Given the description of an element on the screen output the (x, y) to click on. 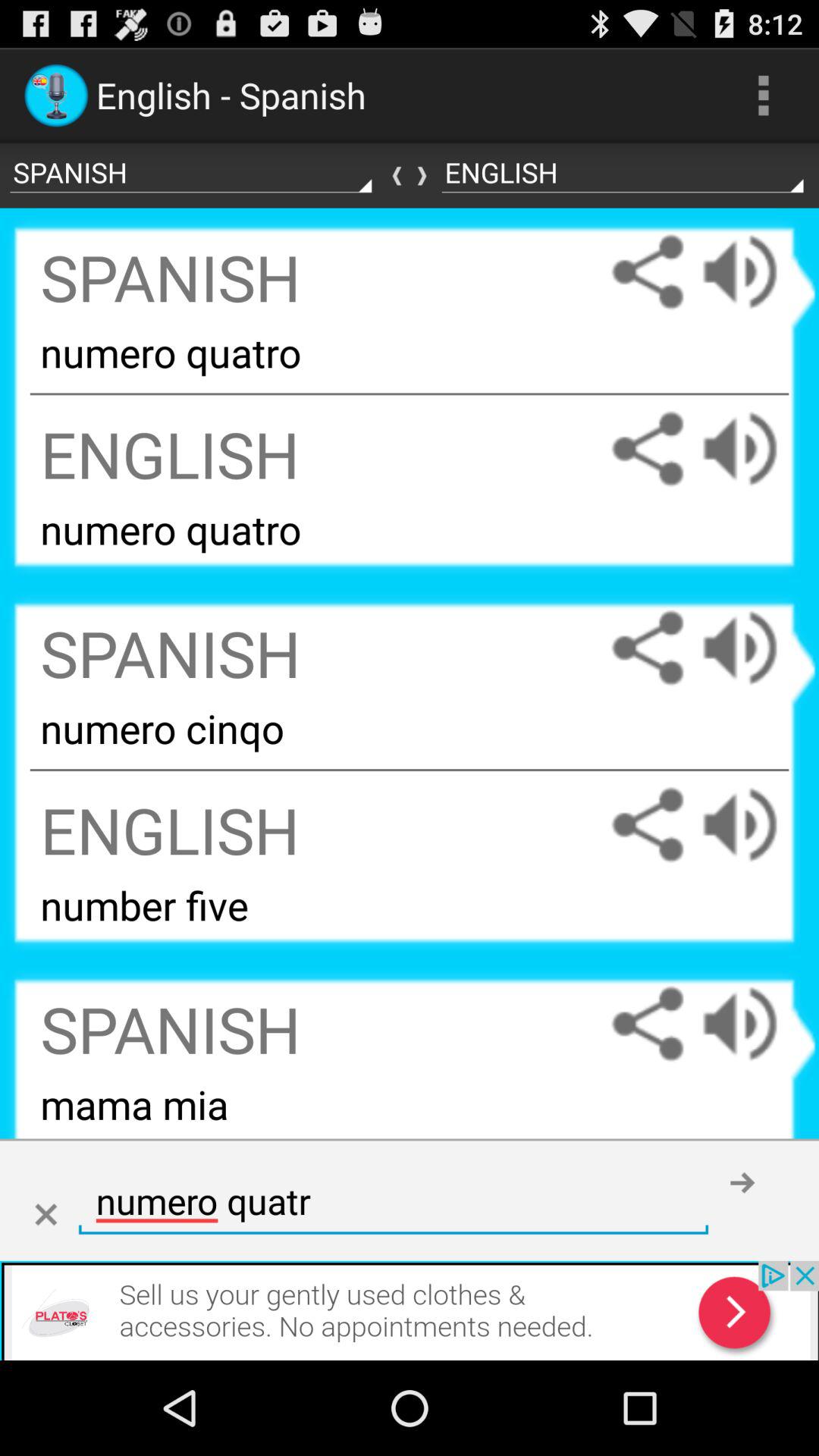
share the text (647, 1023)
